Given the description of an element on the screen output the (x, y) to click on. 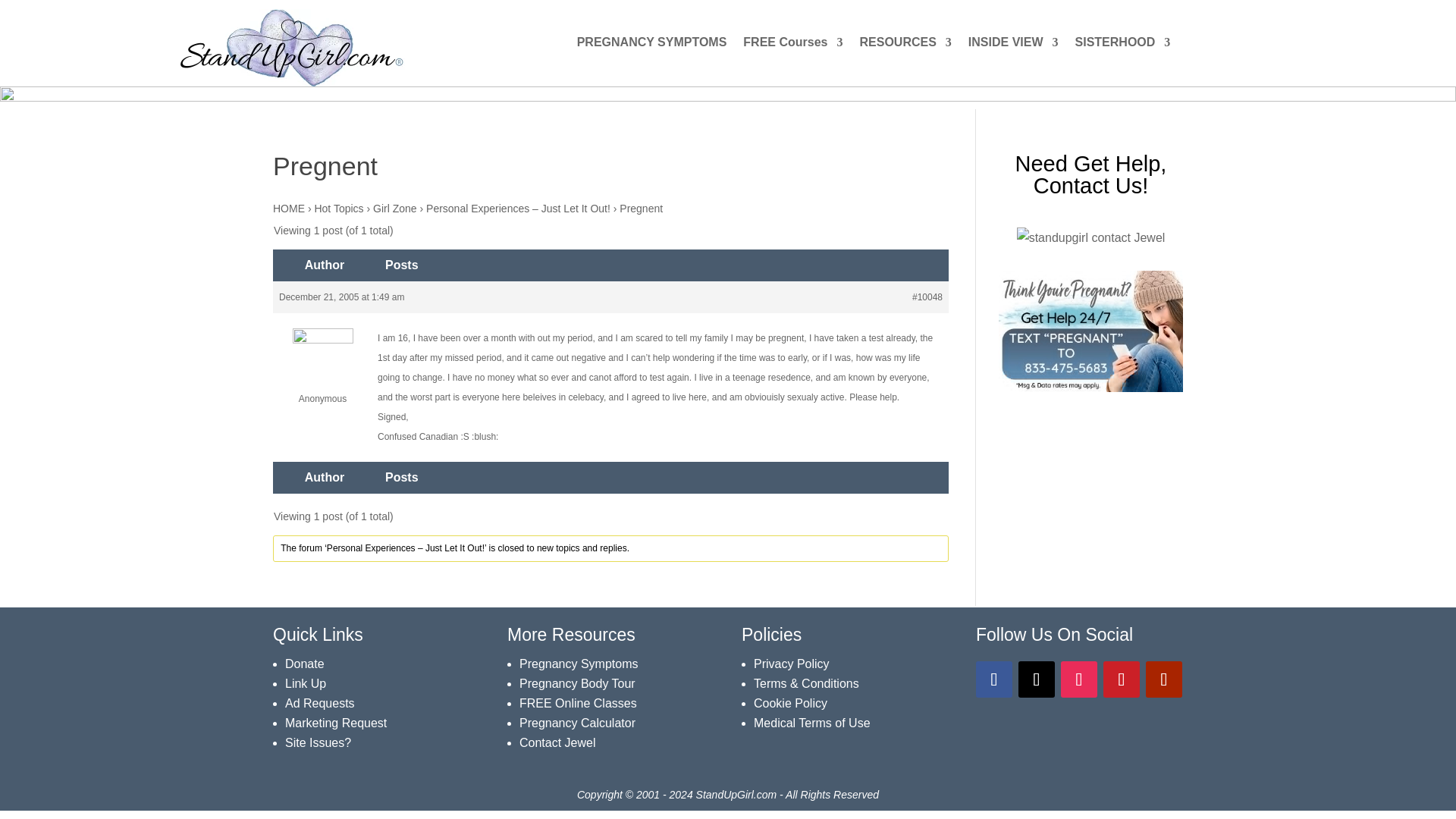
Privacy Policy (791, 663)
FREE Courses (792, 45)
Follow on Pinterest (1121, 678)
Ad Requests (320, 703)
Follow on Instagram (1079, 678)
donate to Standupgirl.com foundation (304, 663)
INSIDE VIEW (1013, 45)
SISTERHOOD (1122, 45)
Site issue contact us (317, 742)
Follow on Youtube (1163, 678)
RESOURCES (904, 45)
Follow on Facebook (993, 678)
standupgirl.com (290, 47)
Follow on Twitter (1035, 678)
PREGNANCY SYMPTOMS (651, 45)
